Given the description of an element on the screen output the (x, y) to click on. 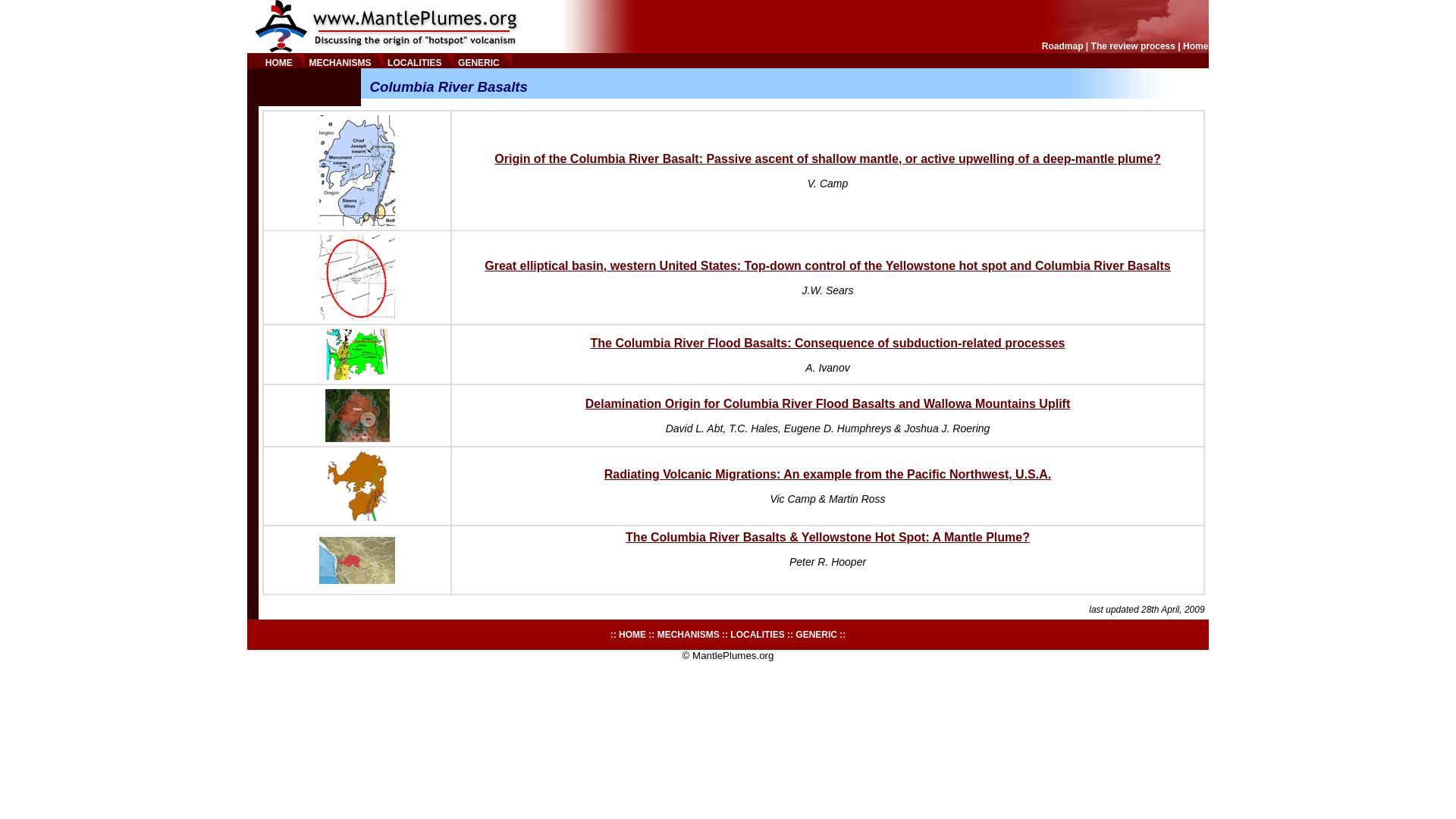
MECHANISMS (690, 634)
HOME (632, 634)
HOME (278, 62)
LOCALITIES (758, 634)
The review process (1132, 45)
GENERIC (478, 62)
Home (1195, 45)
GENERIC (817, 634)
MECHANISMS (339, 62)
LOCALITIES (414, 62)
